Given the description of an element on the screen output the (x, y) to click on. 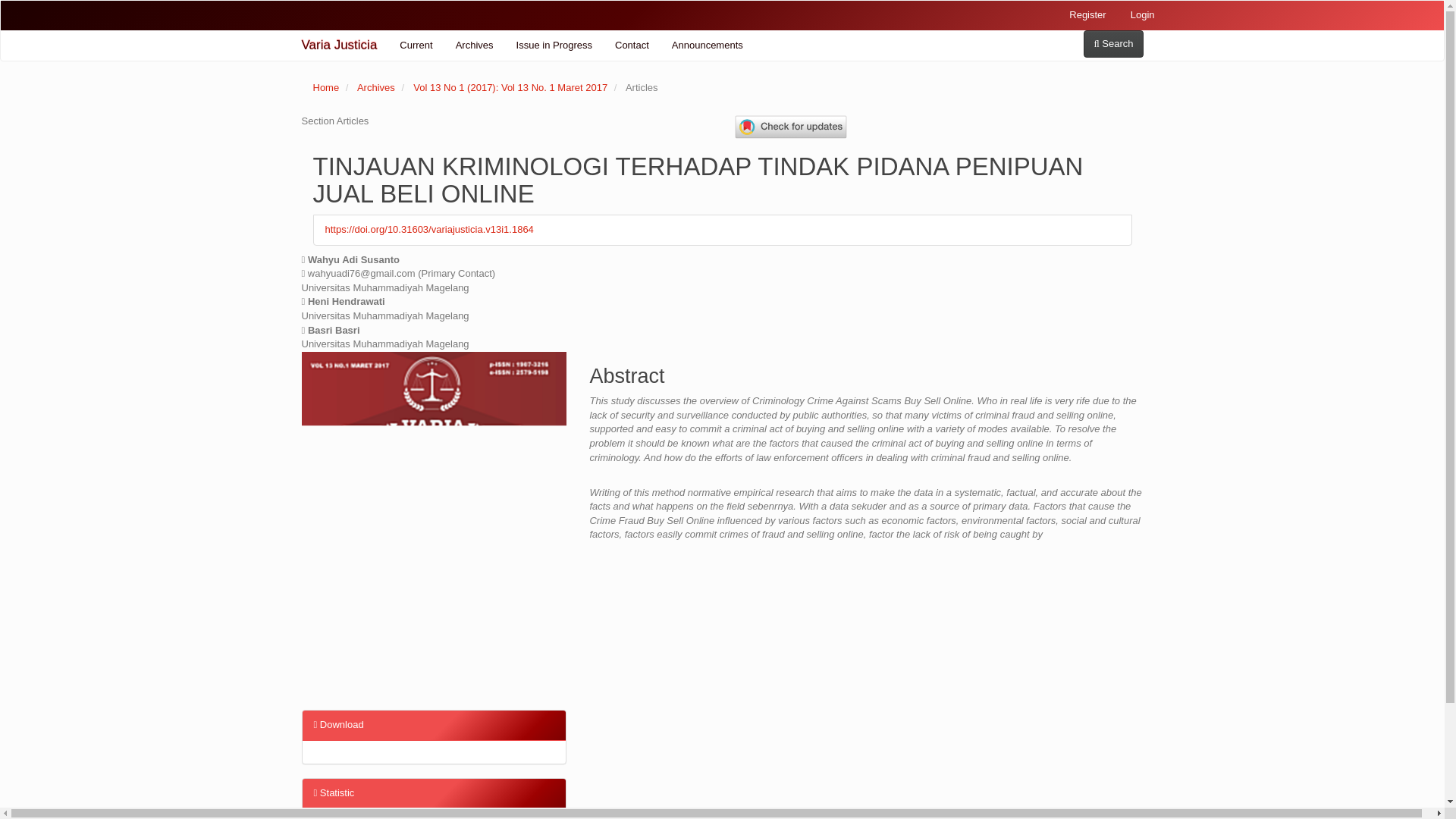
Search (1112, 44)
Announcements (707, 45)
Home (326, 87)
Issue in Progress (554, 45)
Login (1142, 15)
Archives (375, 87)
Current (416, 45)
Register (1087, 15)
Varia Justicia (338, 45)
Search (1112, 42)
Archives (474, 45)
Contact (632, 45)
